Given the description of an element on the screen output the (x, y) to click on. 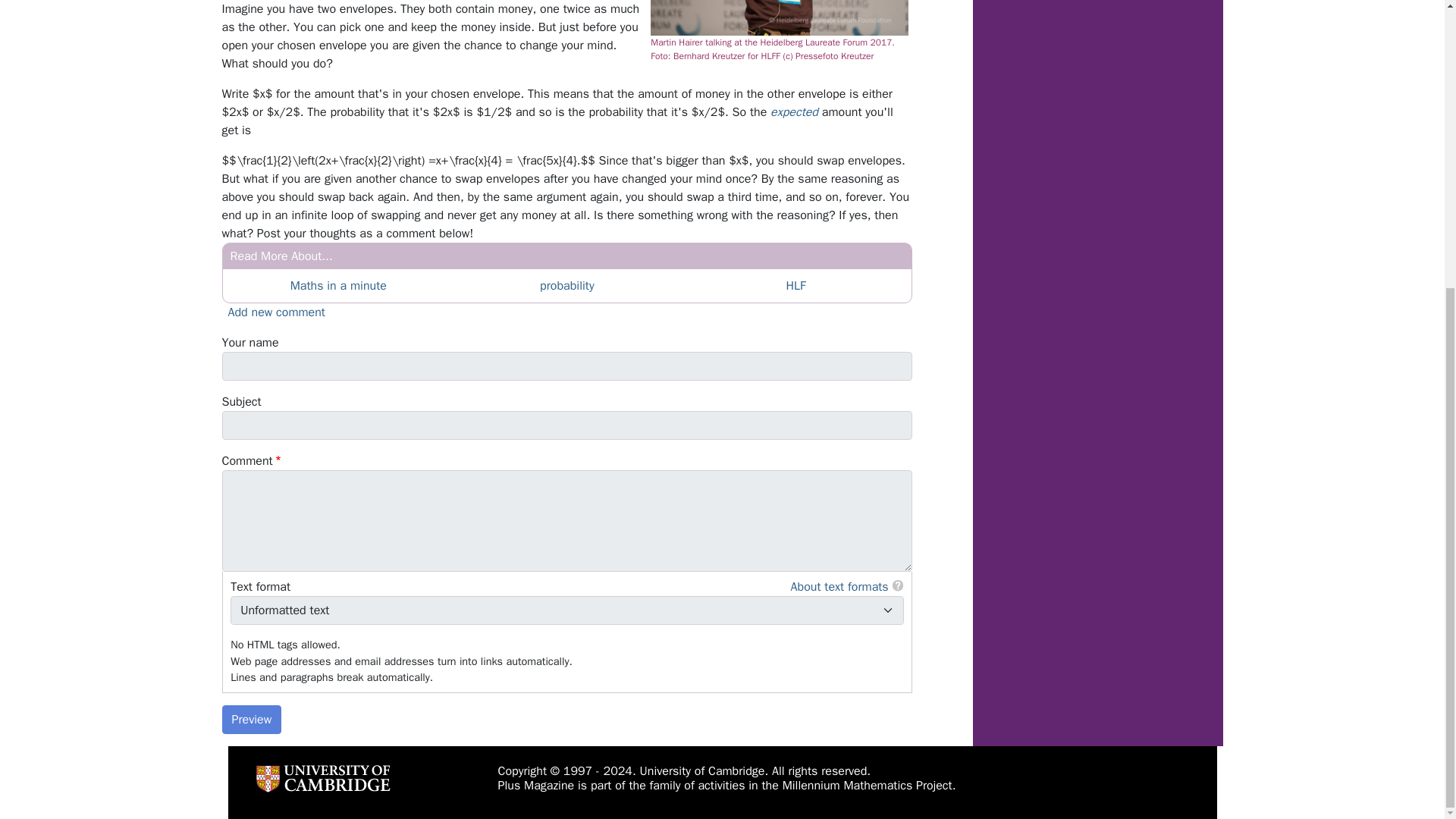
expected (794, 111)
Add new comment (275, 312)
Preview (251, 719)
About text formats (839, 586)
HLF (795, 285)
Preview (251, 719)
probability (567, 285)
Maths in a minute (338, 285)
Share your thoughts and opinions. (275, 312)
